Given the description of an element on the screen output the (x, y) to click on. 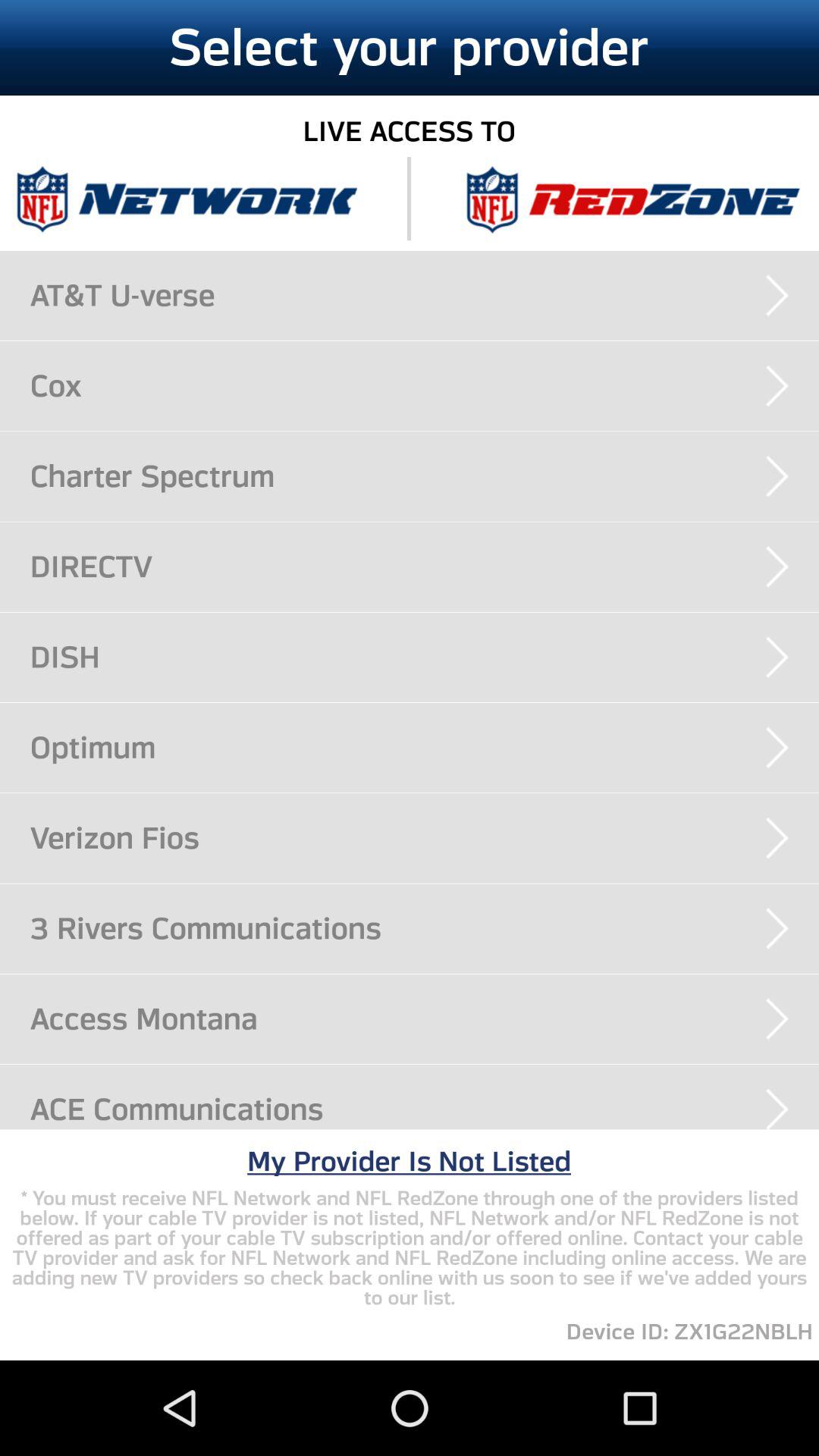
scroll to verizon fios (424, 837)
